Given the description of an element on the screen output the (x, y) to click on. 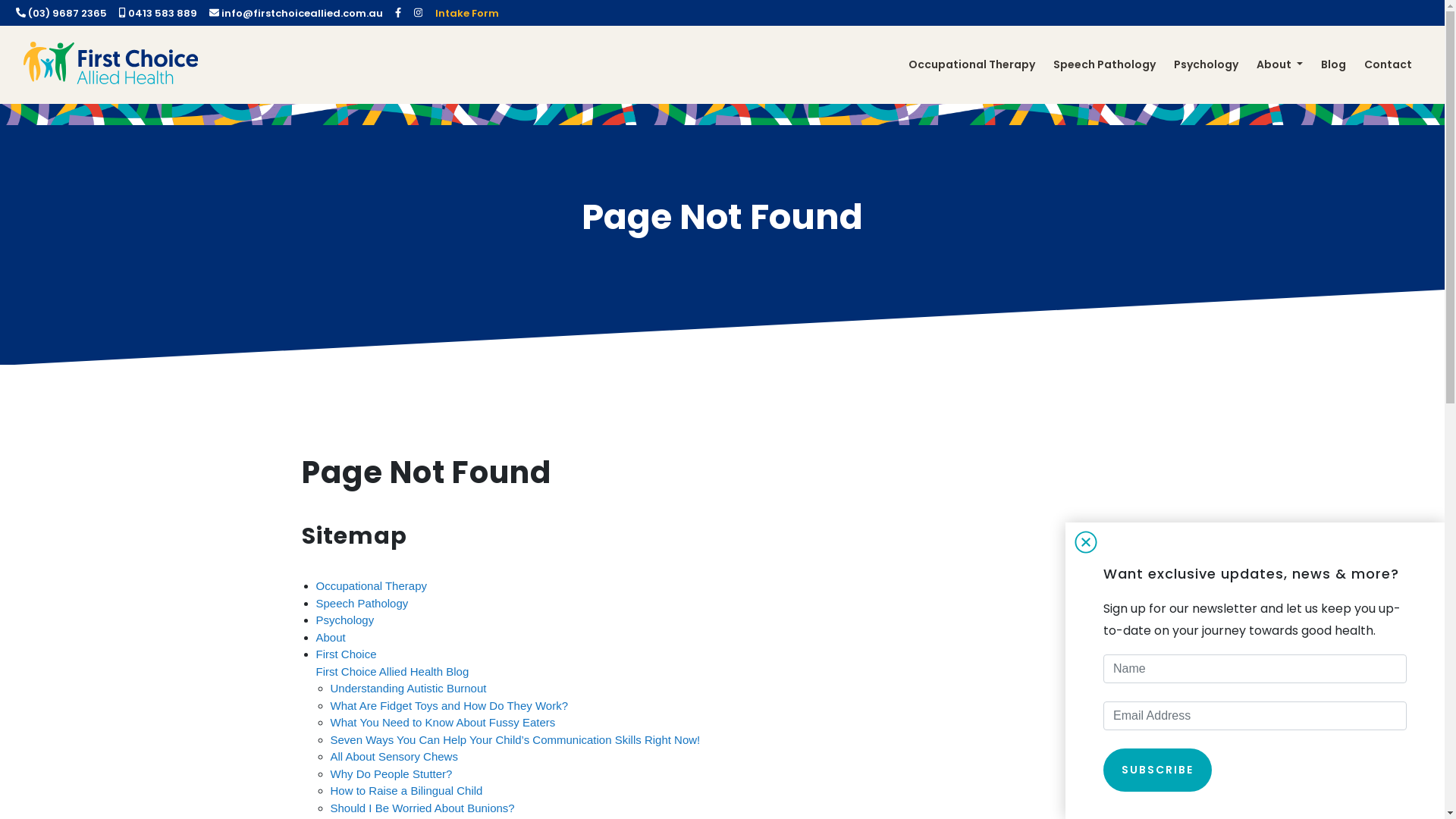
Should I Be Worried About Bunions? Element type: text (422, 807)
How to Raise a Bilingual Child Element type: text (406, 790)
Why Do People Stutter? Element type: text (391, 773)
Occupational Therapy Element type: text (370, 585)
Understanding Autistic Burnout Element type: text (408, 687)
All About Sensory Chews Element type: text (394, 755)
Contact Element type: text (1388, 64)
About Element type: text (330, 636)
What You Need to Know About Fussy Eaters Element type: text (442, 721)
Speech Pathology Element type: text (1104, 64)
About Element type: text (1279, 64)
info@firstchoiceallied.com.au Element type: text (295, 13)
First Choice Element type: text (345, 653)
0413 583 889 Element type: text (157, 13)
Speech Pathology Element type: text (361, 602)
Occupational Therapy Element type: text (971, 64)
(03) 9687 2365 Element type: text (60, 13)
What Are Fidget Toys and How Do They Work? Element type: text (448, 705)
Psychology Element type: text (1205, 64)
Subscribe Element type: text (1157, 769)
Blog Element type: text (1333, 64)
Intake Form Element type: text (466, 11)
Psychology Element type: text (344, 619)
First Choice Allied Health Blog Element type: text (391, 671)
